Given the description of an element on the screen output the (x, y) to click on. 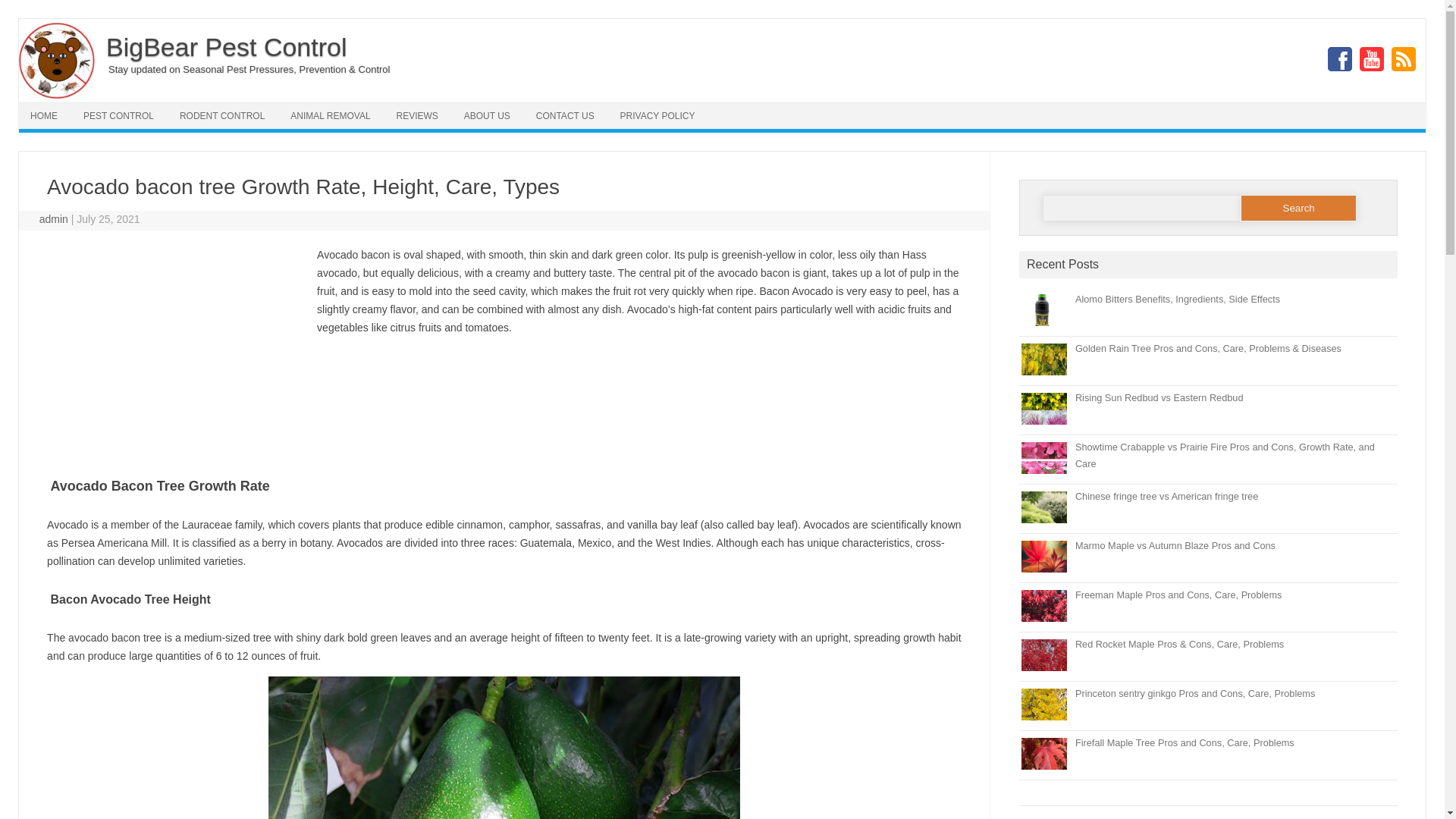
admin (53, 218)
PEST CONTROL (118, 115)
Advertisement (173, 356)
Skip to content (757, 107)
HOME (43, 115)
Posts by admin (53, 218)
RODENT CONTROL (222, 115)
Search (1298, 207)
Skip to content (757, 107)
ANIMAL REMOVAL (330, 115)
REVIEWS (417, 115)
CONTACT US (564, 115)
PRIVACY POLICY (657, 115)
ABOUT US (486, 115)
BigBear Pest Control (224, 46)
